Given the description of an element on the screen output the (x, y) to click on. 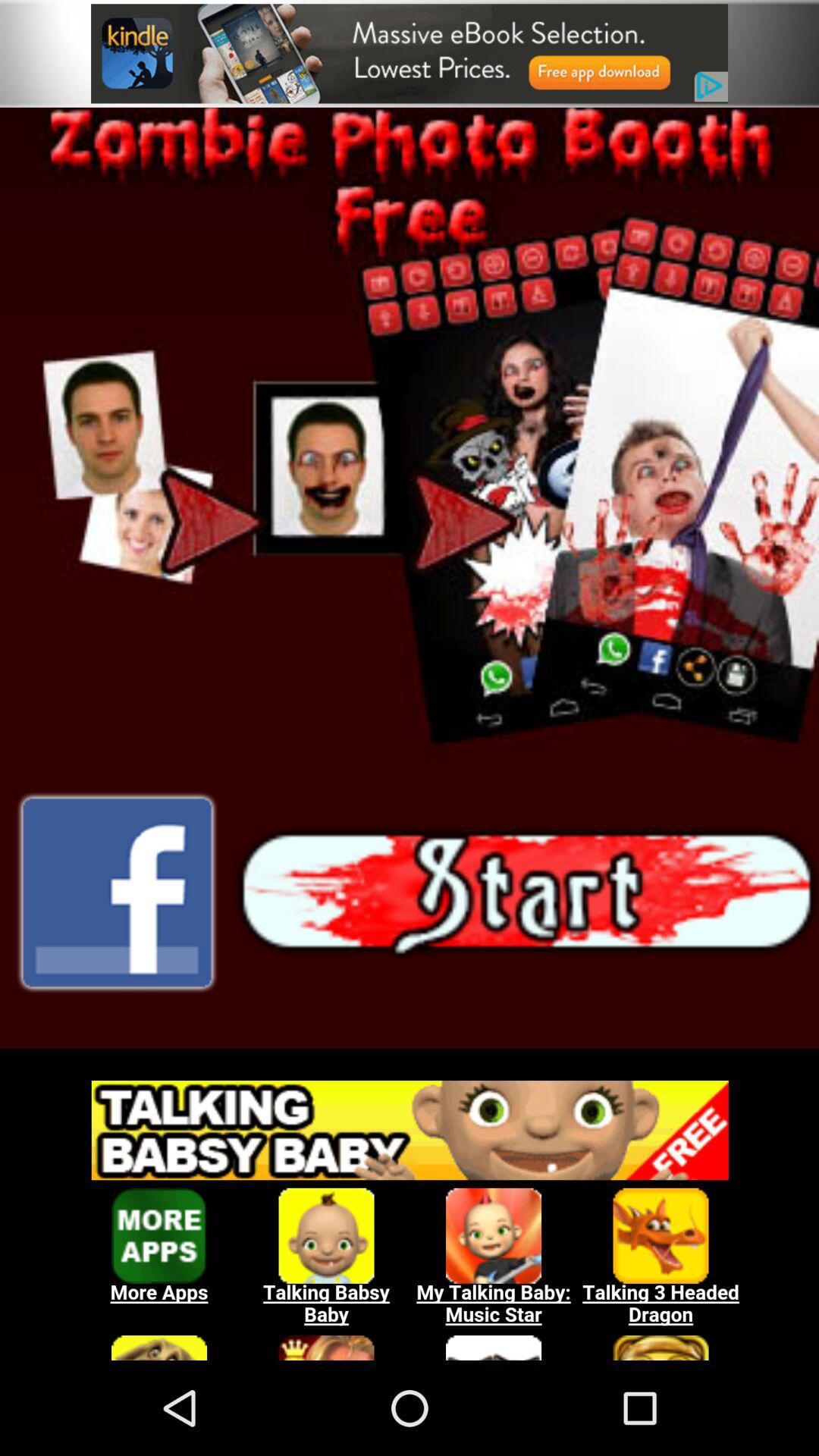
start the element (526, 892)
